Given the description of an element on the screen output the (x, y) to click on. 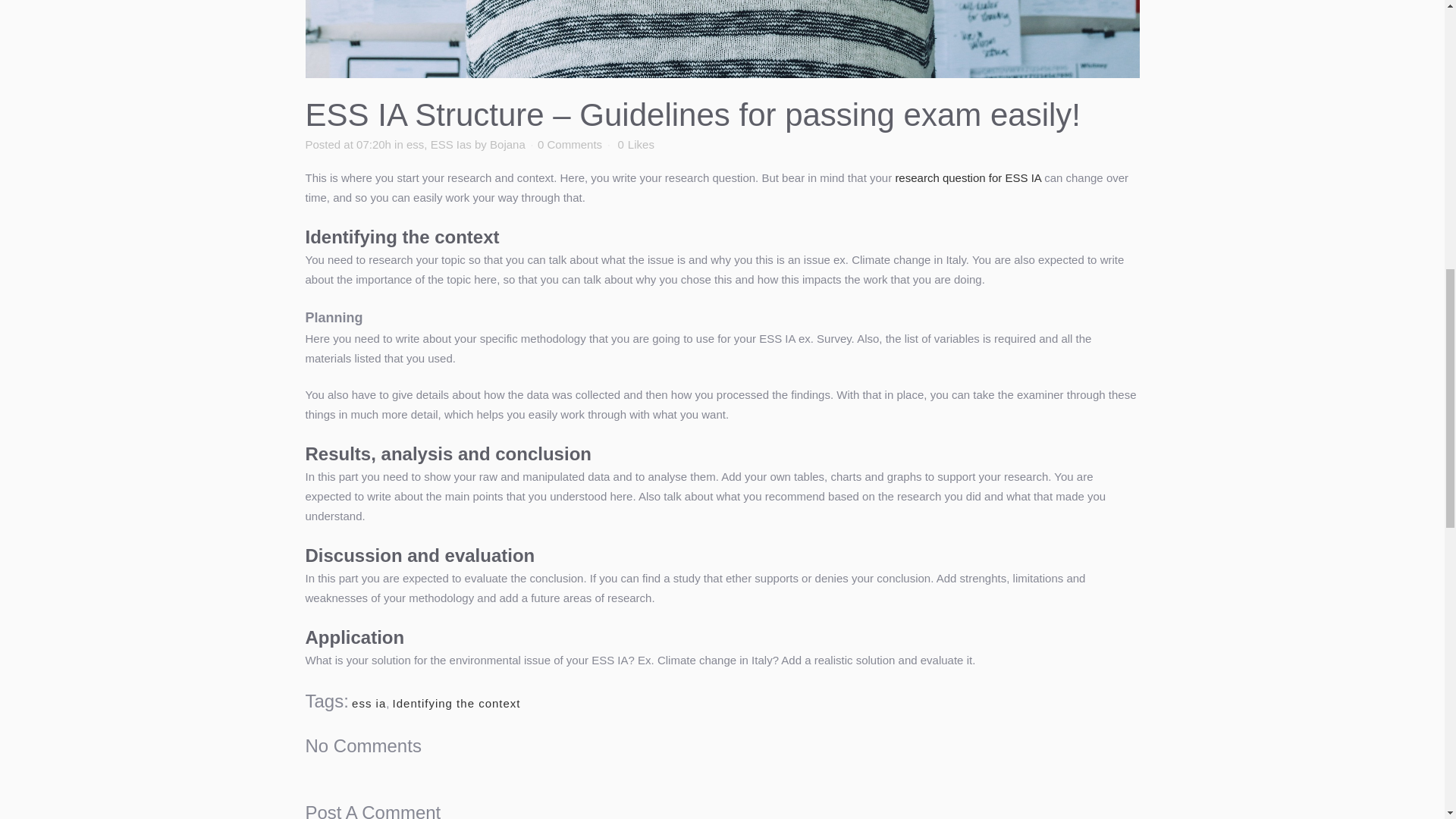
Bojana (507, 144)
0 Likes (635, 144)
Identifying the context (457, 703)
research question for ESS IA (968, 177)
ess ia (368, 703)
ESS Ias (450, 144)
ess (414, 144)
0 Comments (569, 144)
Like this (635, 144)
